Given the description of an element on the screen output the (x, y) to click on. 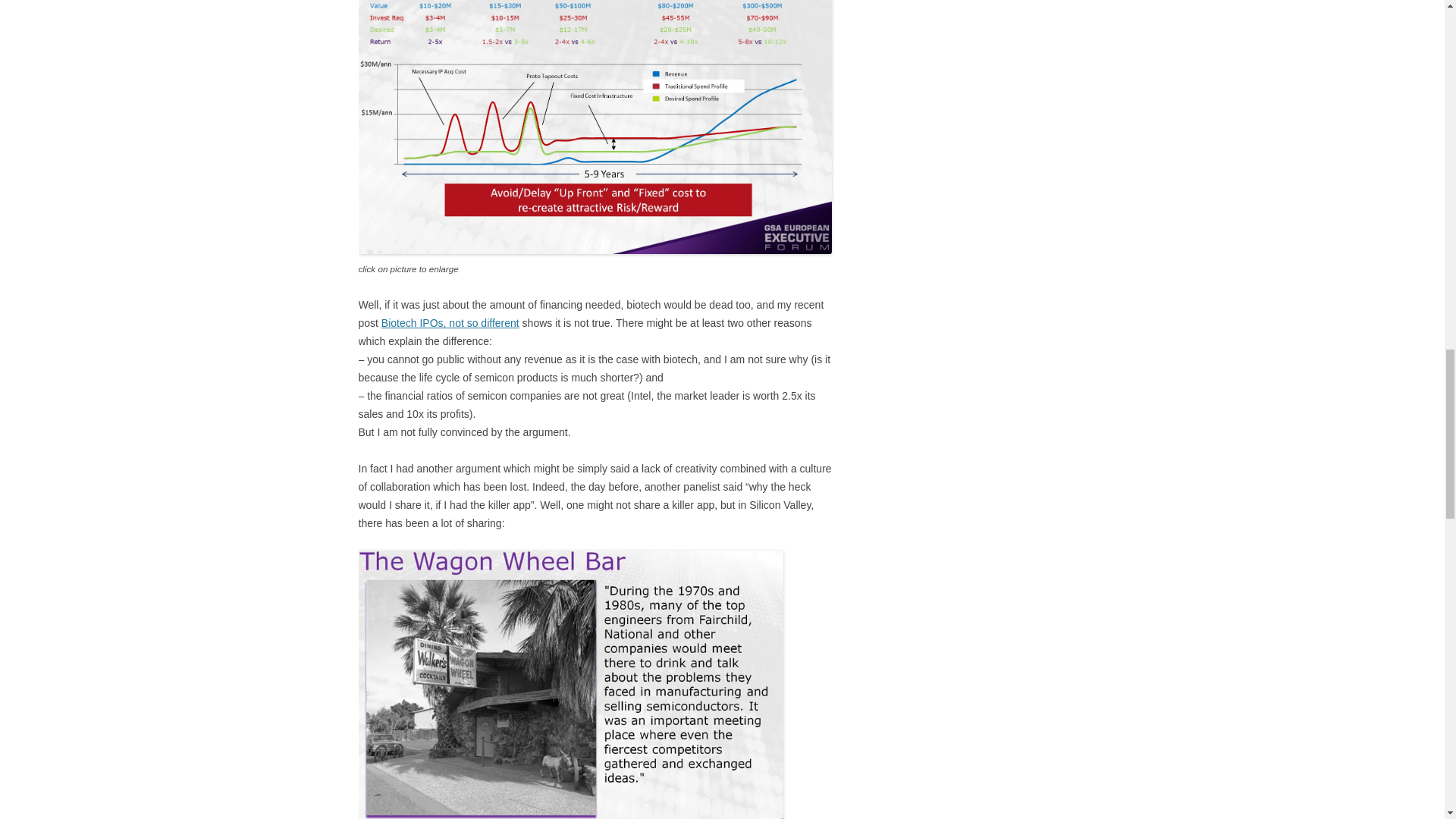
Biotech IPOs, not so different (450, 322)
GSA-WagonWheel (570, 684)
GSA-Semicon-Model (594, 126)
